Given the description of an element on the screen output the (x, y) to click on. 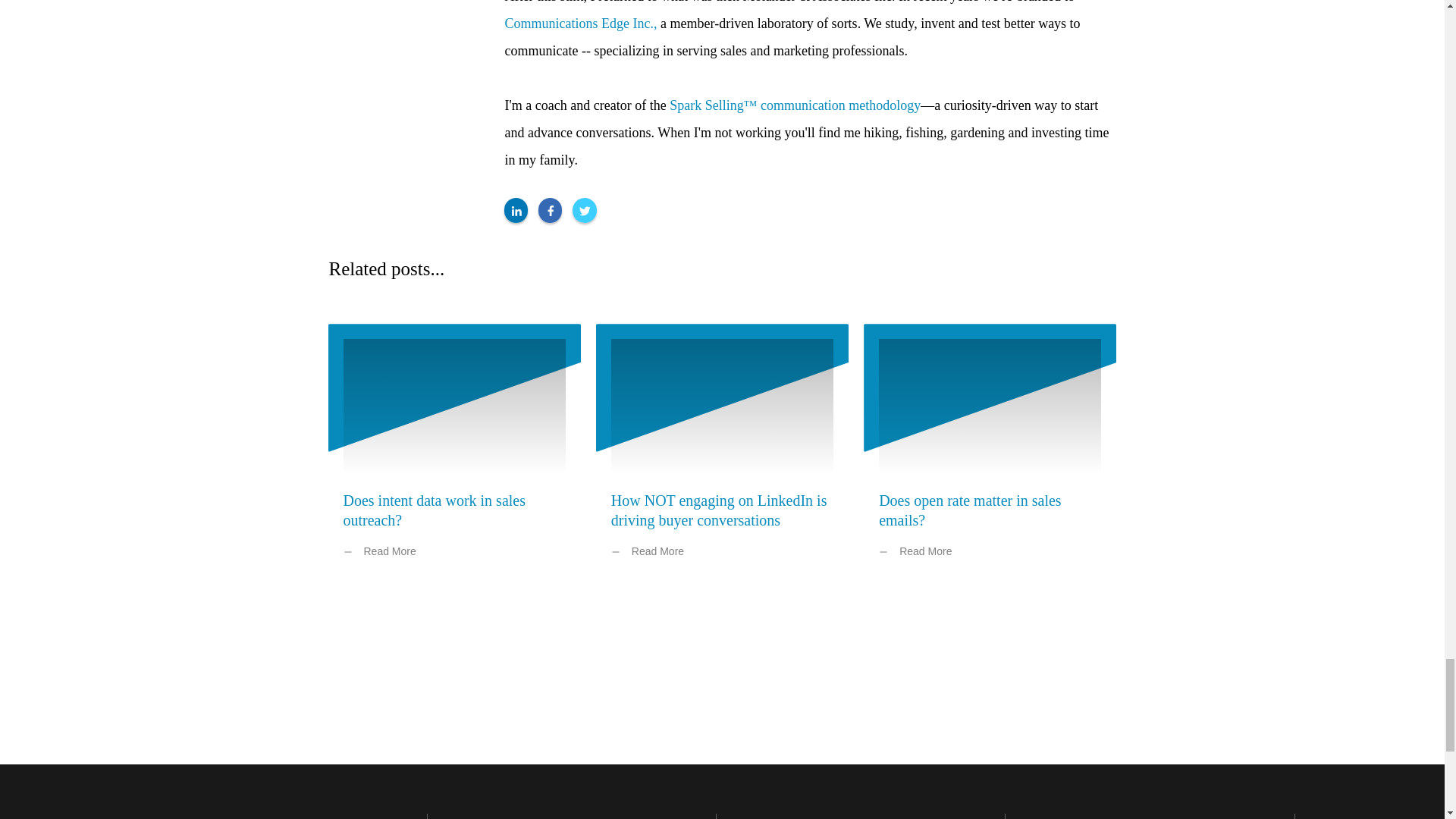
Does open rate matter in sales emails? (970, 510)
Communications Edge Inc., (581, 23)
Does intent data work in sales outreach? (433, 510)
How NOT engaging on LinkedIn is driving buyer conversations (719, 510)
